Given the description of an element on the screen output the (x, y) to click on. 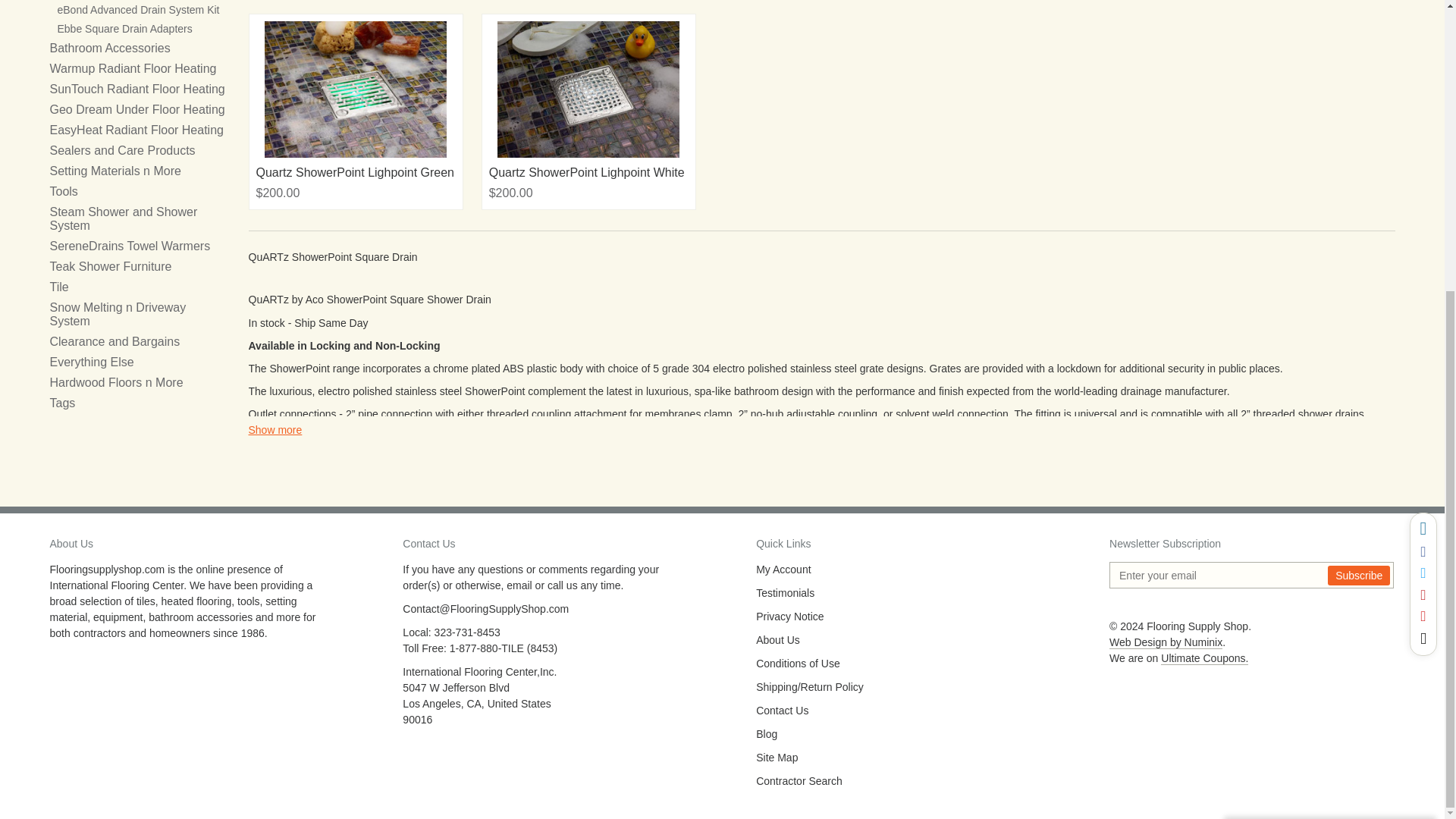
Flooring Supply Shop coupons (1203, 658)
